Given the description of an element on the screen output the (x, y) to click on. 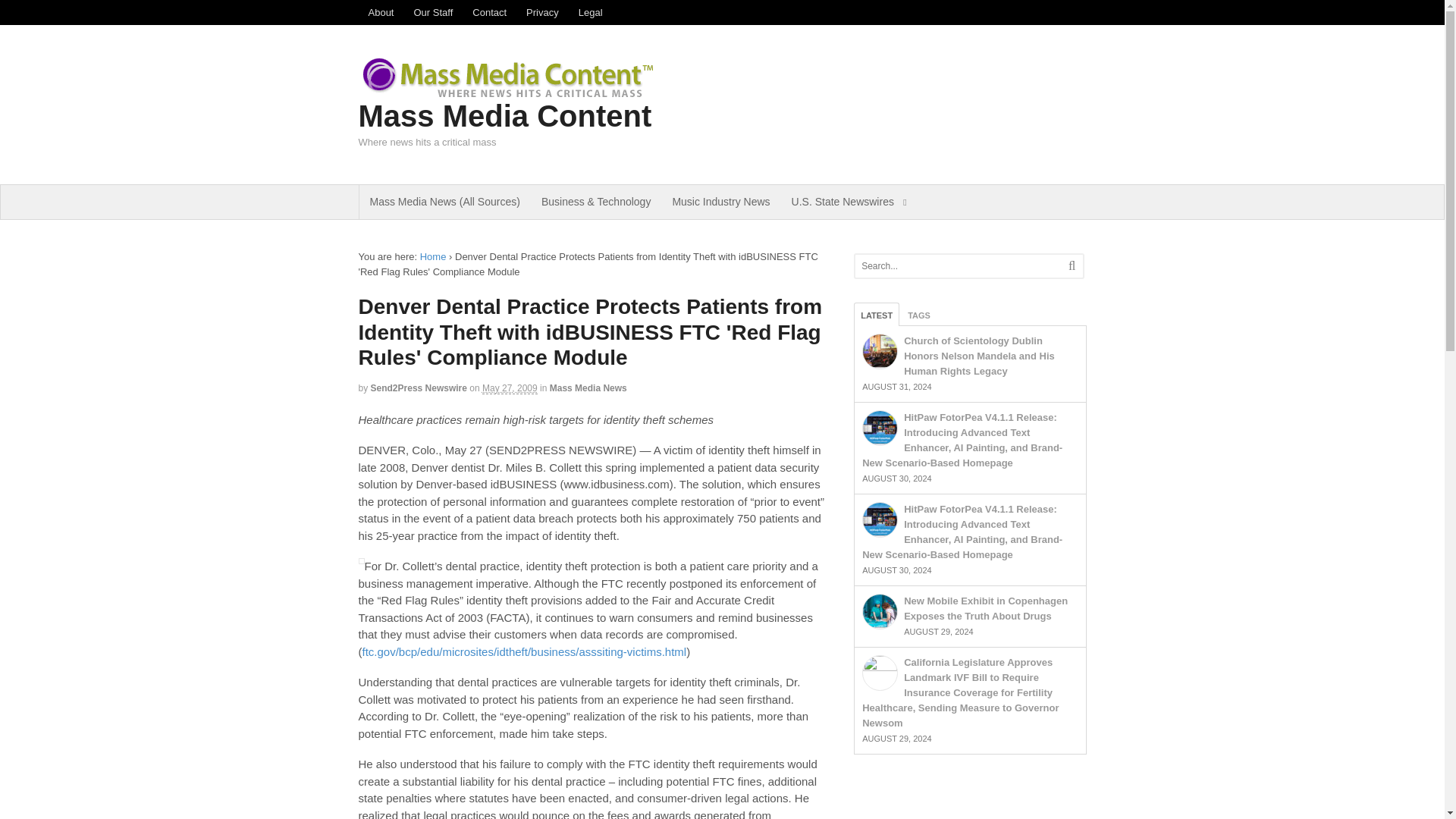
2009-05-27T17:09:23-0400 (509, 388)
Legal (590, 12)
Contact (489, 12)
Mass Media Content (504, 115)
Mass Media News (588, 388)
Where news hits a critical mass (509, 92)
TAGS (919, 313)
Mass Media Content (433, 256)
Our Staff (433, 12)
Music Industry News (720, 202)
